Given the description of an element on the screen output the (x, y) to click on. 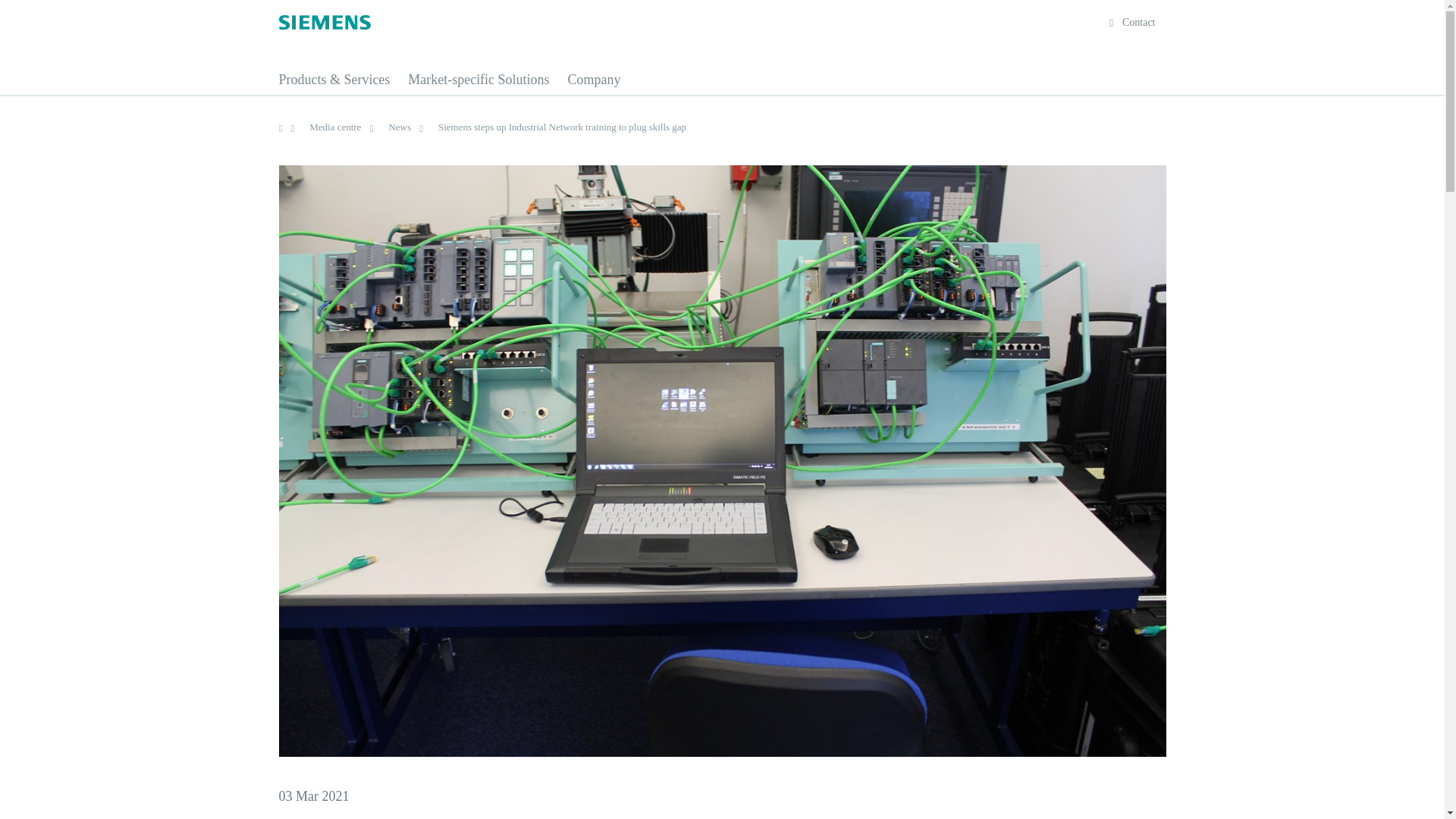
Contact (1131, 21)
Market-specific Solutions (477, 83)
News (403, 126)
Media centre (338, 126)
Company (593, 83)
